Given the description of an element on the screen output the (x, y) to click on. 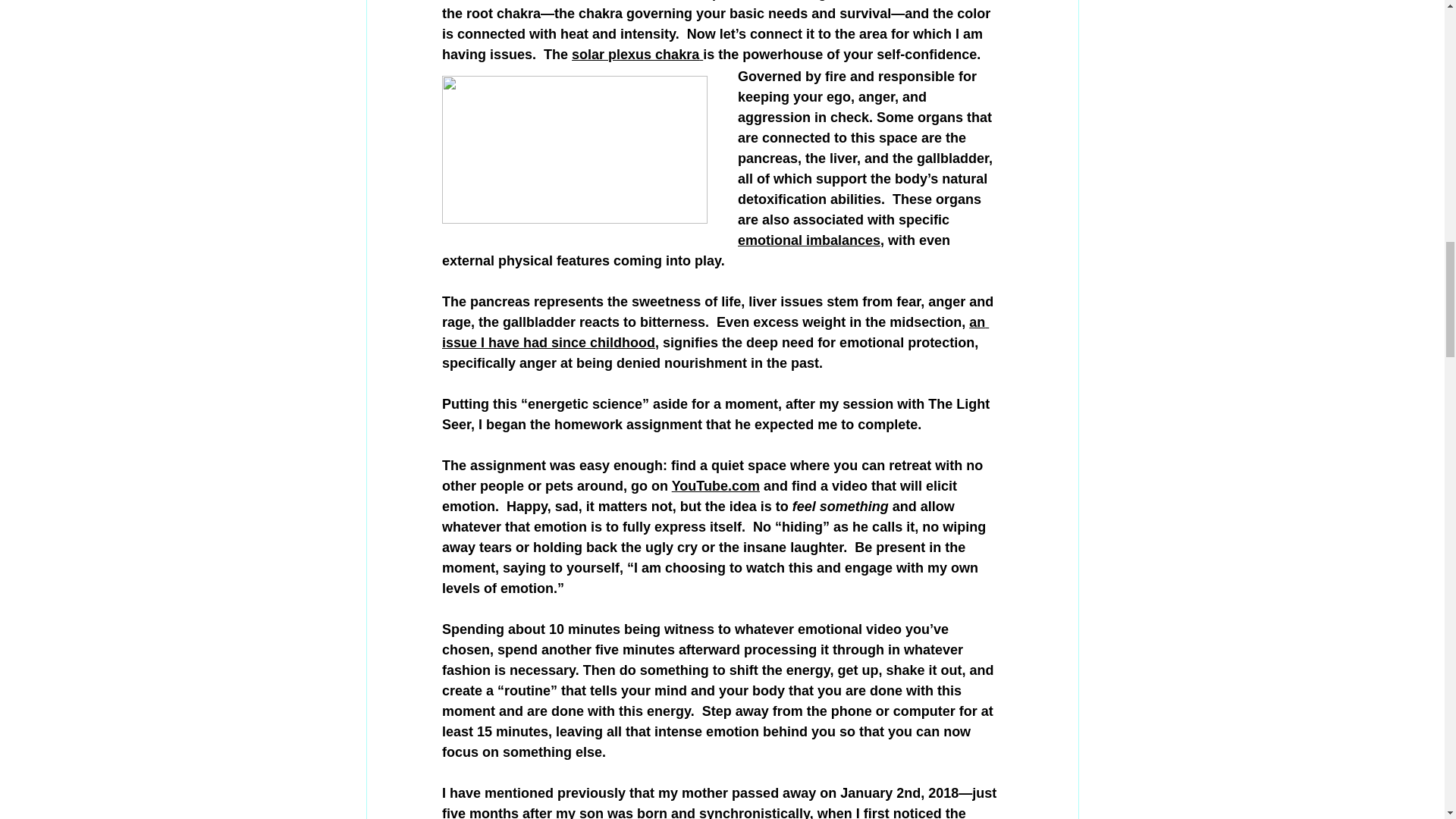
an issue I have had since childhood (714, 332)
emotional imbalances (807, 240)
solar plexus chakra (635, 54)
YouTube.com (714, 485)
